Given the description of an element on the screen output the (x, y) to click on. 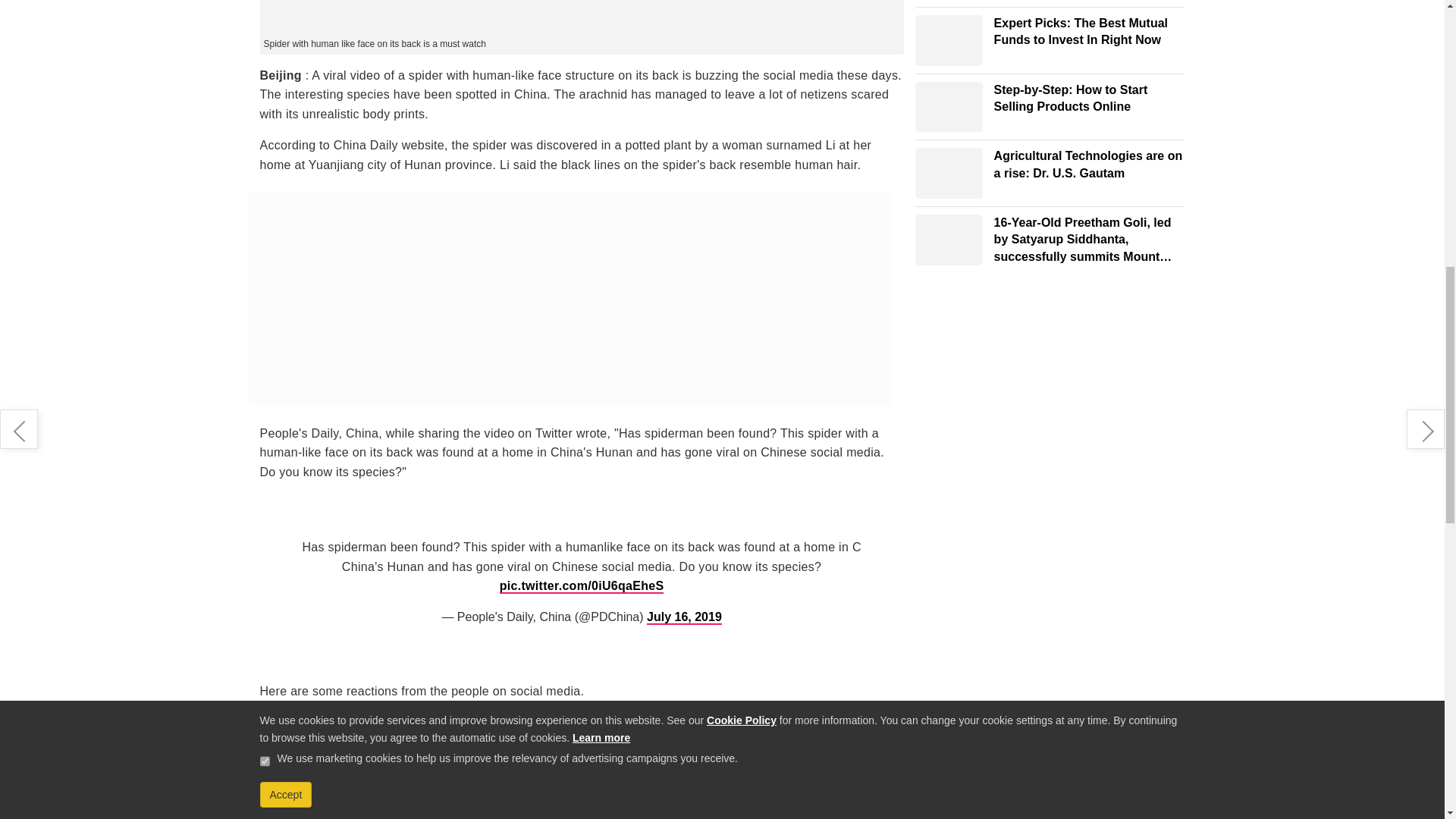
July 16, 2019 (684, 617)
Expert Picks: The Best Mutual Funds to Invest In Right Now (948, 40)
Agricultural Technologies are on a rise:  Dr. U.S. Gautam (948, 173)
Step-by-Step: How to Start Selling Products Online (948, 106)
Spider with human like face on its back is a must watch (580, 16)
July 16, 2019 (671, 798)
